Given the description of an element on the screen output the (x, y) to click on. 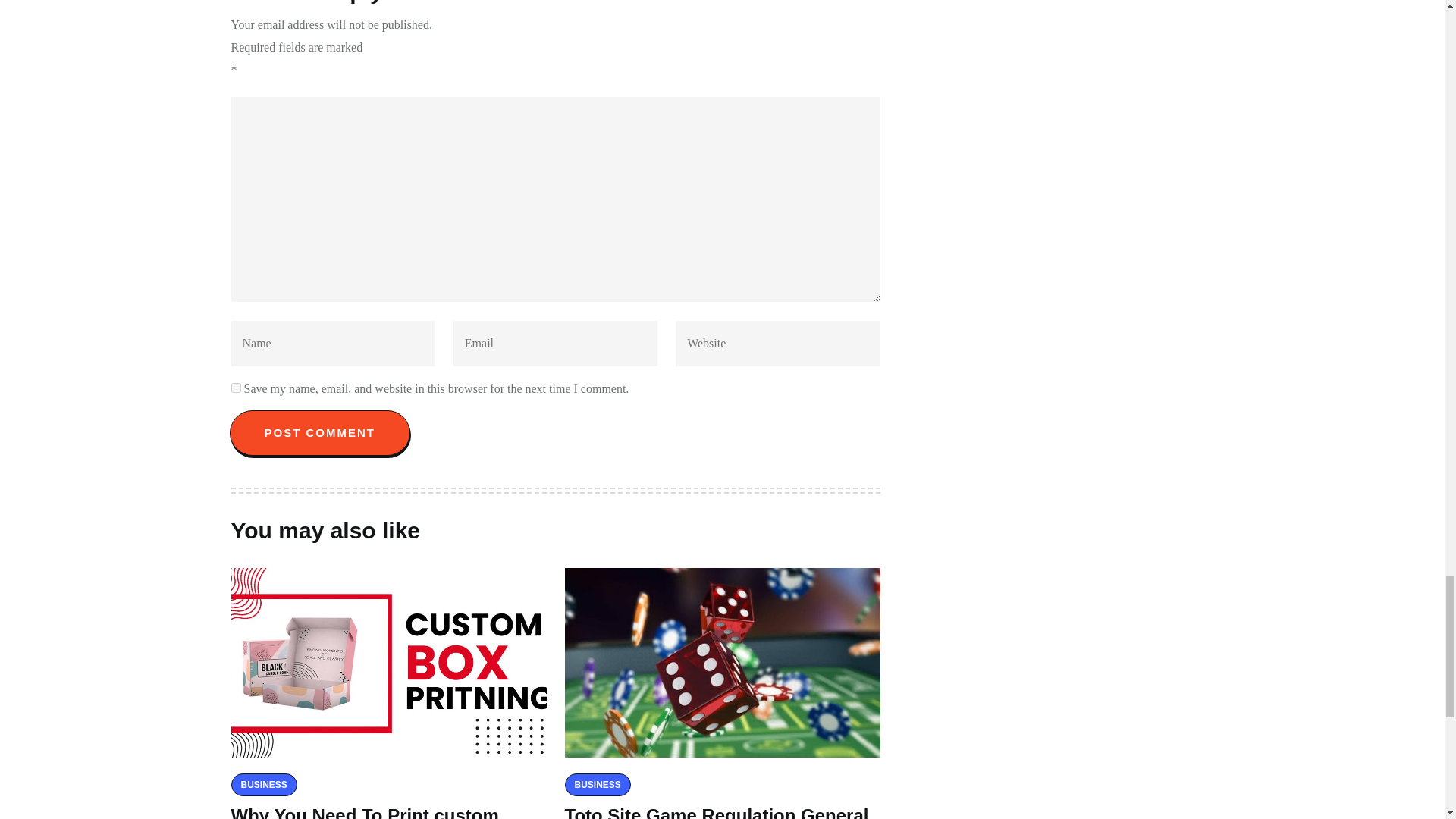
Post Comment (319, 432)
yes (235, 388)
